Given the description of an element on the screen output the (x, y) to click on. 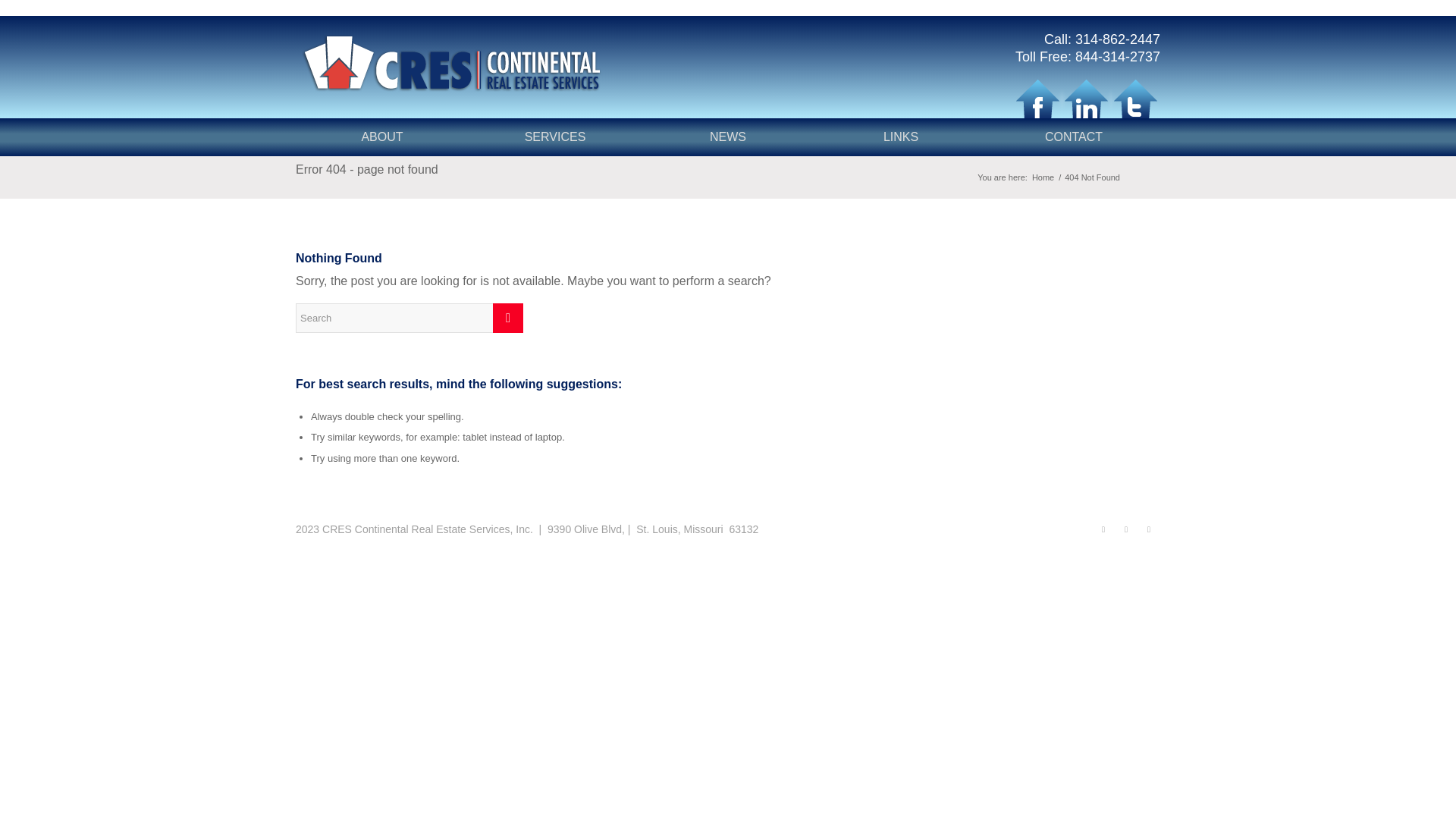
LINKS (900, 136)
Home (1043, 177)
SERVICES (555, 136)
Continental Real Estate Services (1043, 177)
ABOUT (381, 136)
CONTACT (1073, 136)
NEWS (727, 136)
